Given the description of an element on the screen output the (x, y) to click on. 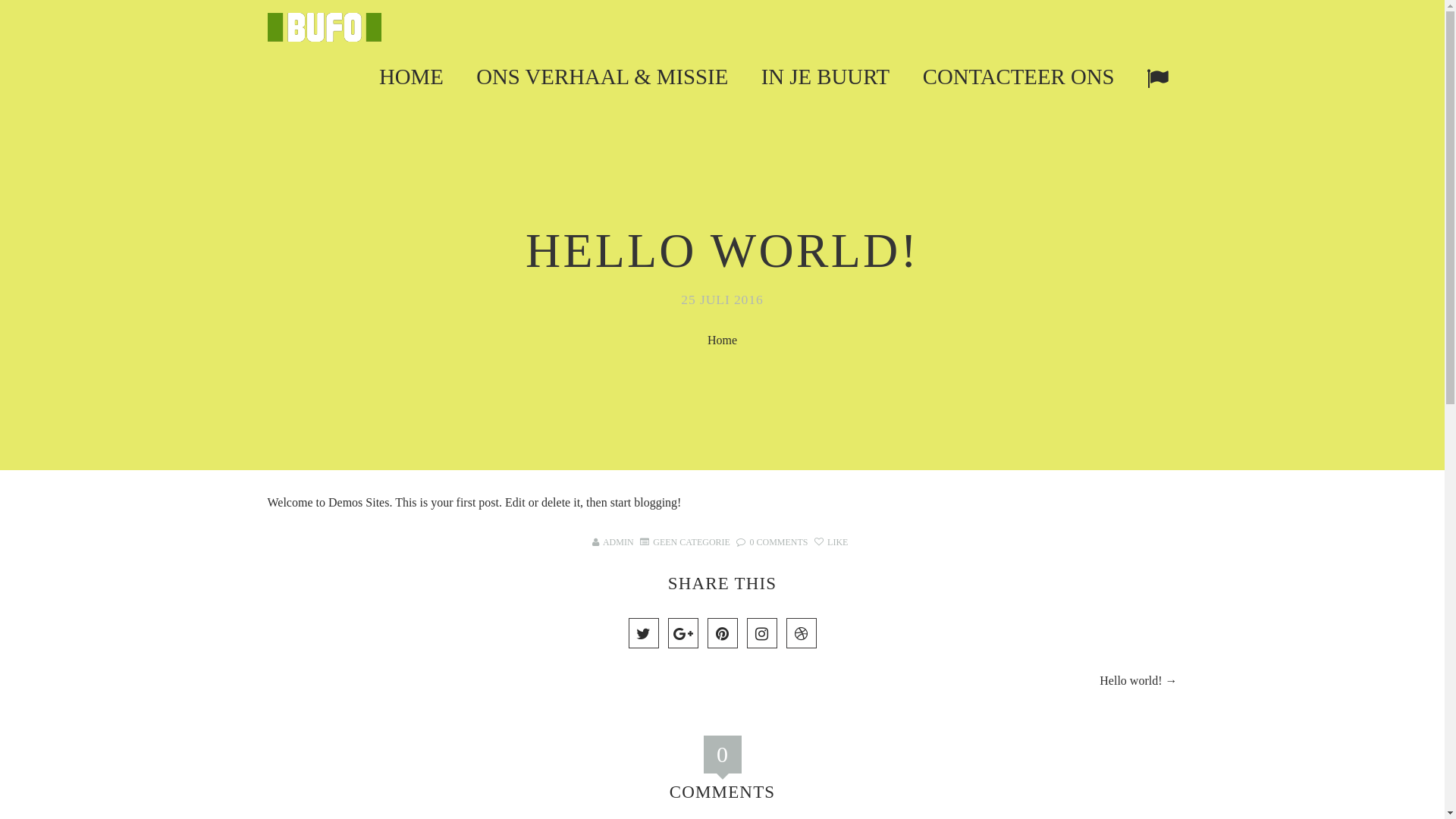
ADMIN Element type: text (617, 541)
CONTACTEER ONS Element type: text (1018, 76)
Hello world! Element type: text (1130, 680)
 LIKE Element type: text (830, 541)
HOME Element type: text (411, 76)
IN JE BUURT Element type: text (824, 76)
 0 COMMENTS Element type: text (771, 541)
Demos Sites Element type: text (358, 501)
Google Element type: hover (682, 633)
Home Element type: text (722, 339)
ONS VERHAAL & MISSIE Element type: text (601, 76)
Twitter Element type: hover (642, 633)
Dribbble Element type: hover (800, 633)
Instagram Element type: hover (761, 633)
Pinterest Element type: hover (721, 633)
